Given the description of an element on the screen output the (x, y) to click on. 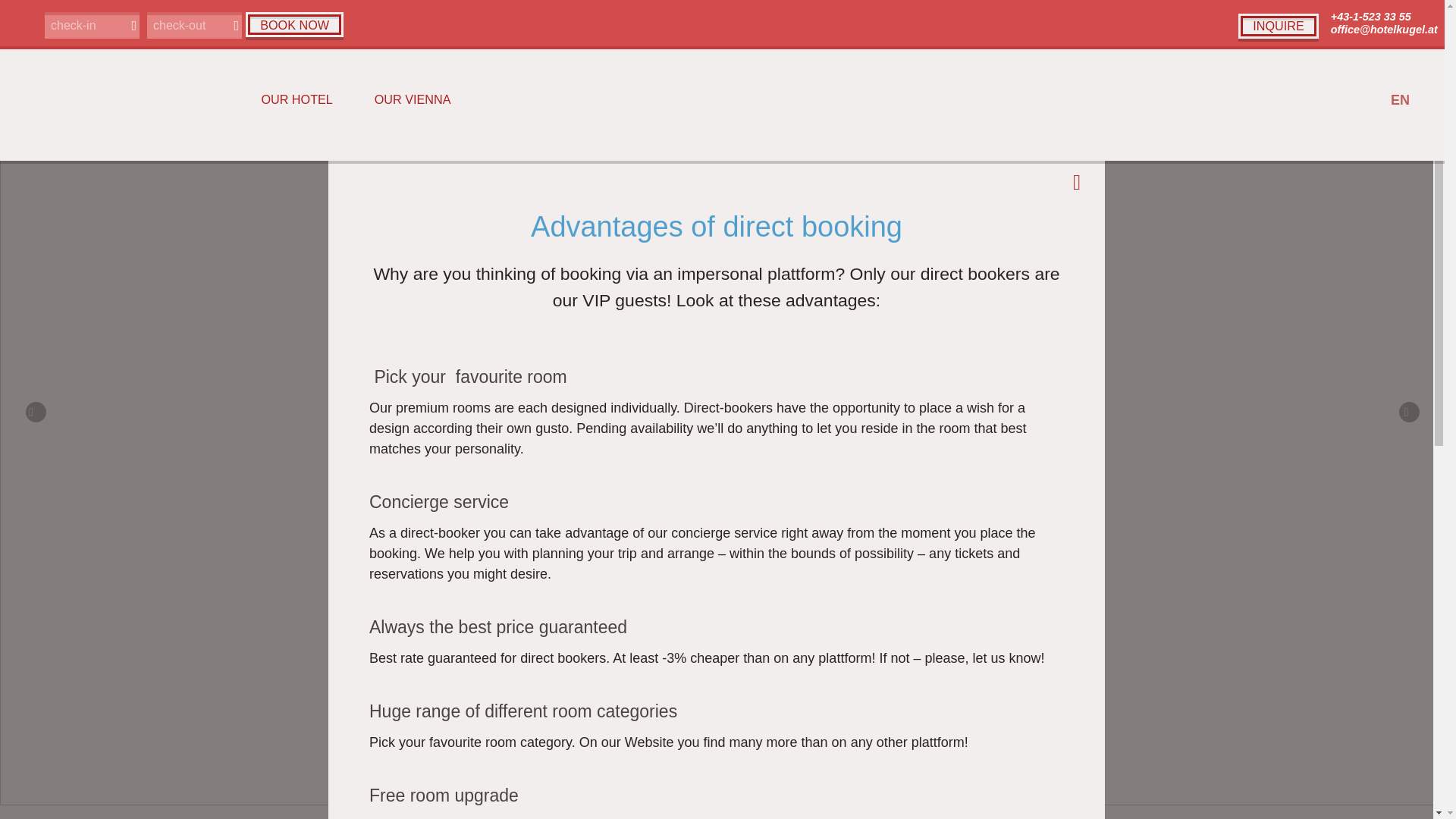
Your breakfast served to your room (721, 172)
Your breakfast served to your room (721, 172)
About us (267, 172)
arriving by car (721, 172)
Our rooms (267, 172)
OUR BREAKFAST (722, 502)
Our Vienna (412, 99)
arriving by car (721, 172)
Contact us (1175, 172)
BOOK NOW (294, 24)
